Given the description of an element on the screen output the (x, y) to click on. 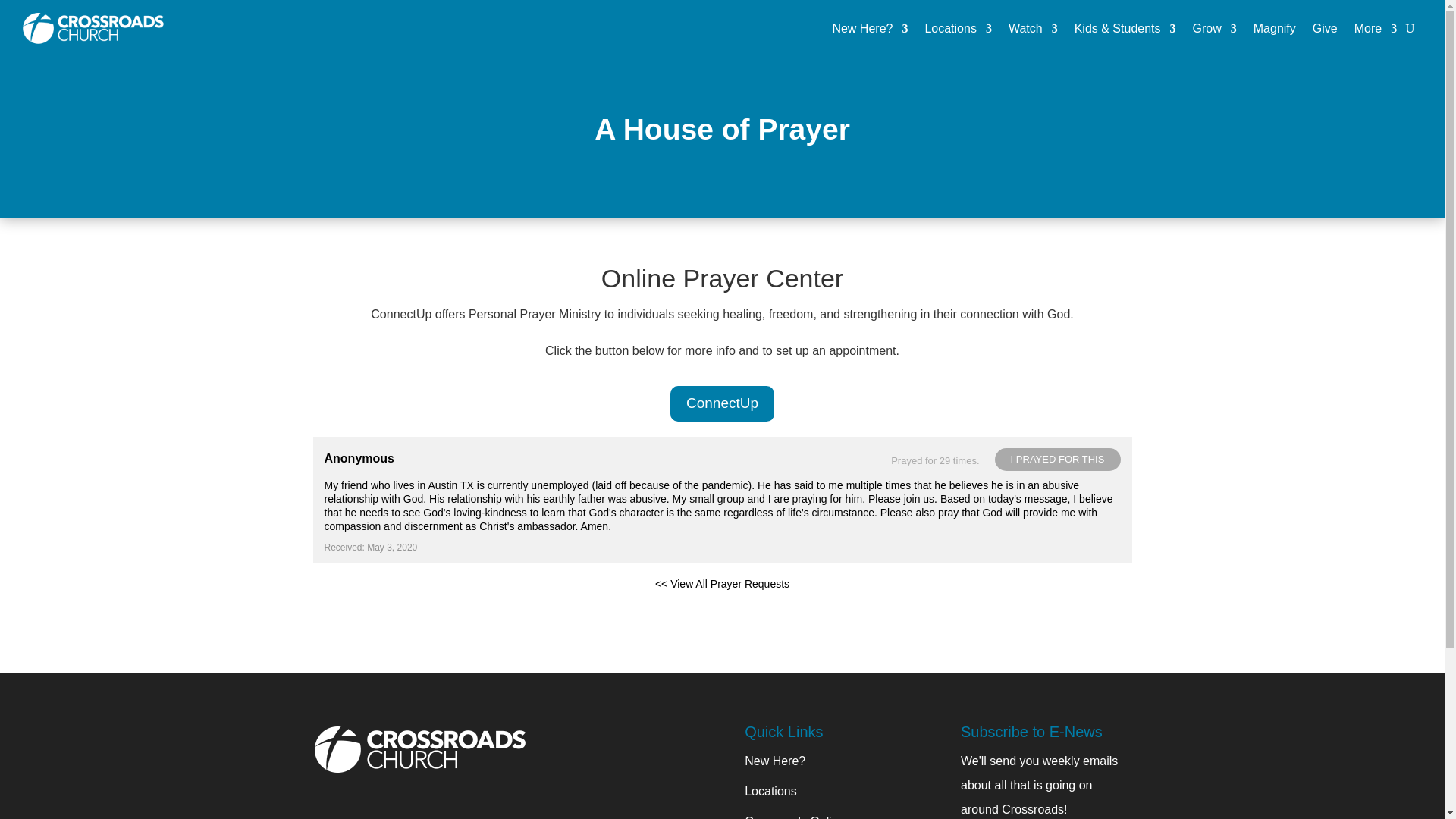
New Here? (869, 28)
Locations (957, 28)
